Given the description of an element on the screen output the (x, y) to click on. 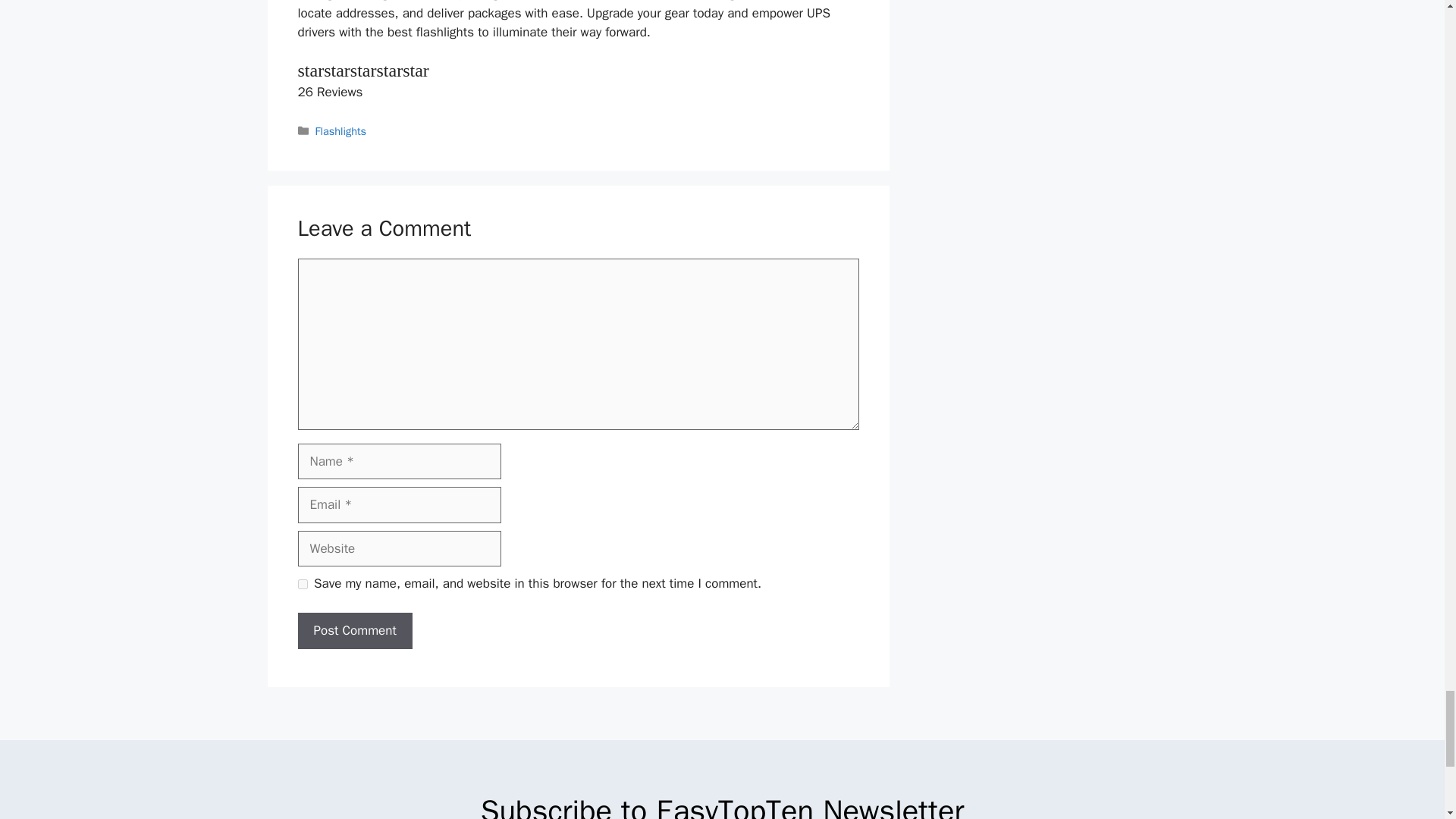
Post Comment (354, 630)
Post Comment (354, 630)
Flashlights (340, 131)
yes (302, 583)
